Given the description of an element on the screen output the (x, y) to click on. 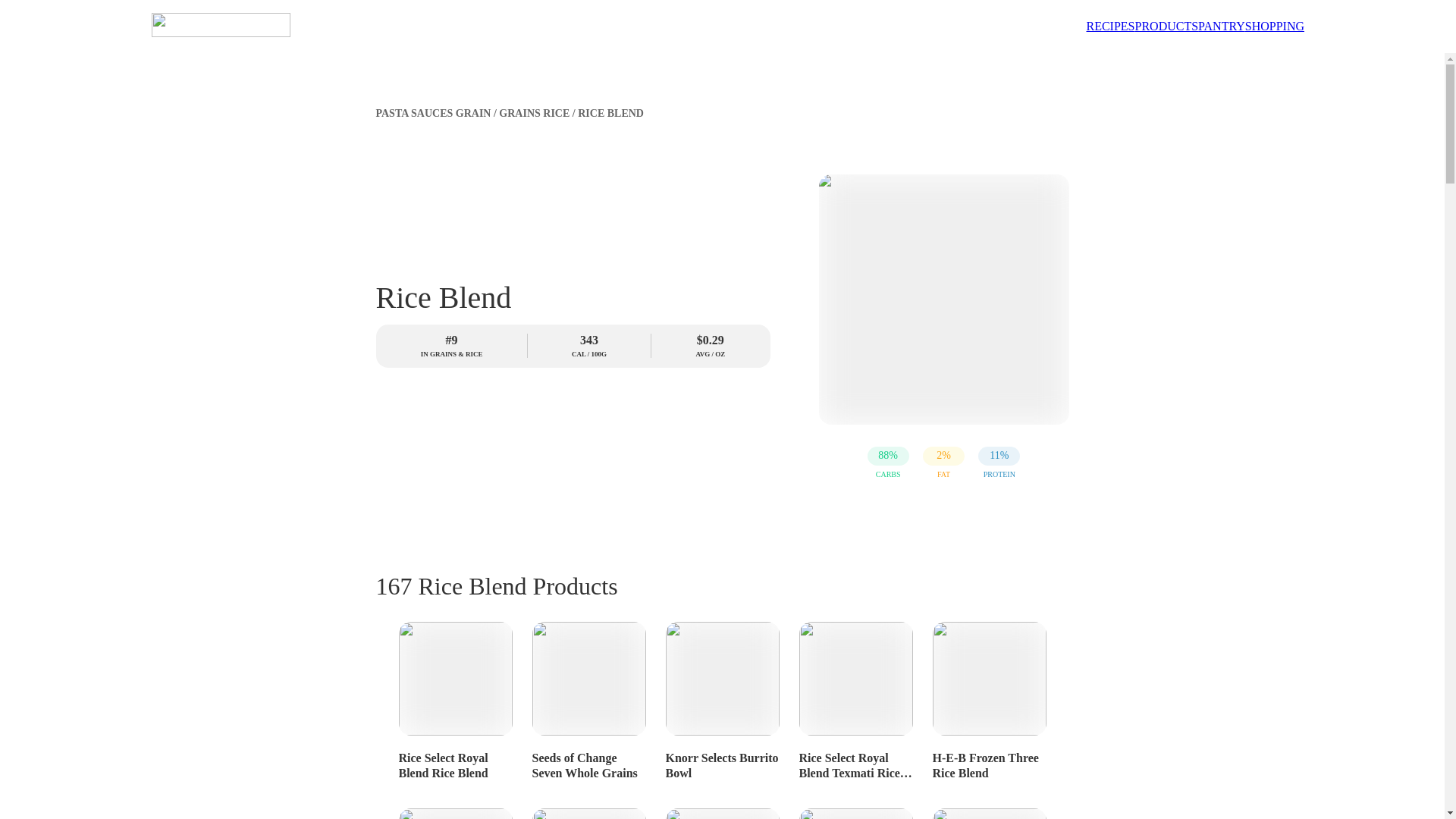
SHOPPING (1274, 26)
H-E-B Frozen Three Rice Blend (988, 697)
PRODUCTS (1166, 26)
Rice Select Royal Blend Rice Blend (454, 697)
Seeds of Change Seven Whole Grains (588, 697)
Knorr Selects Burrito Bowl (722, 697)
PANTRY (1221, 26)
RECIPES (1110, 26)
